Given the description of an element on the screen output the (x, y) to click on. 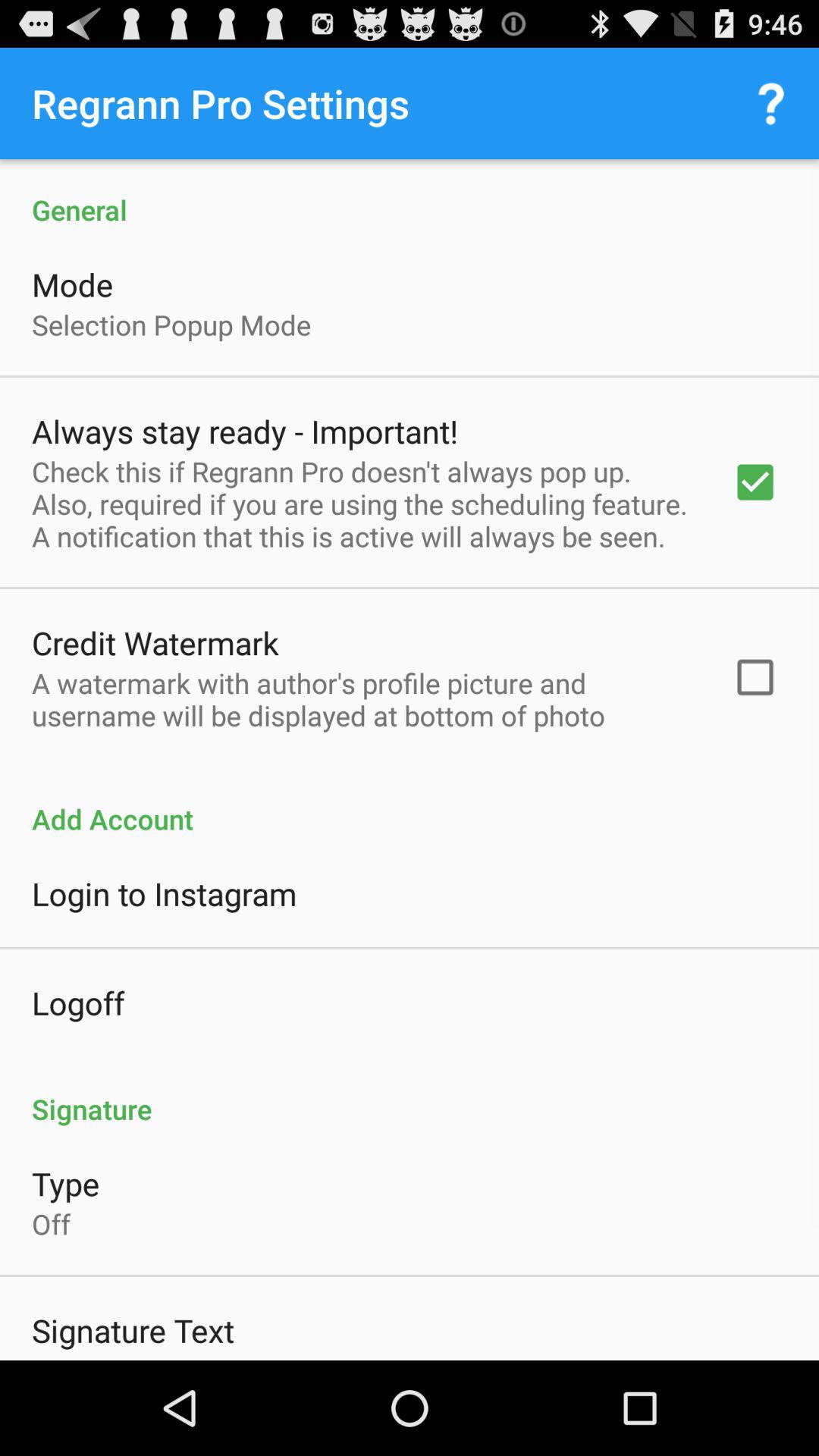
press the logoff item (77, 1002)
